Given the description of an element on the screen output the (x, y) to click on. 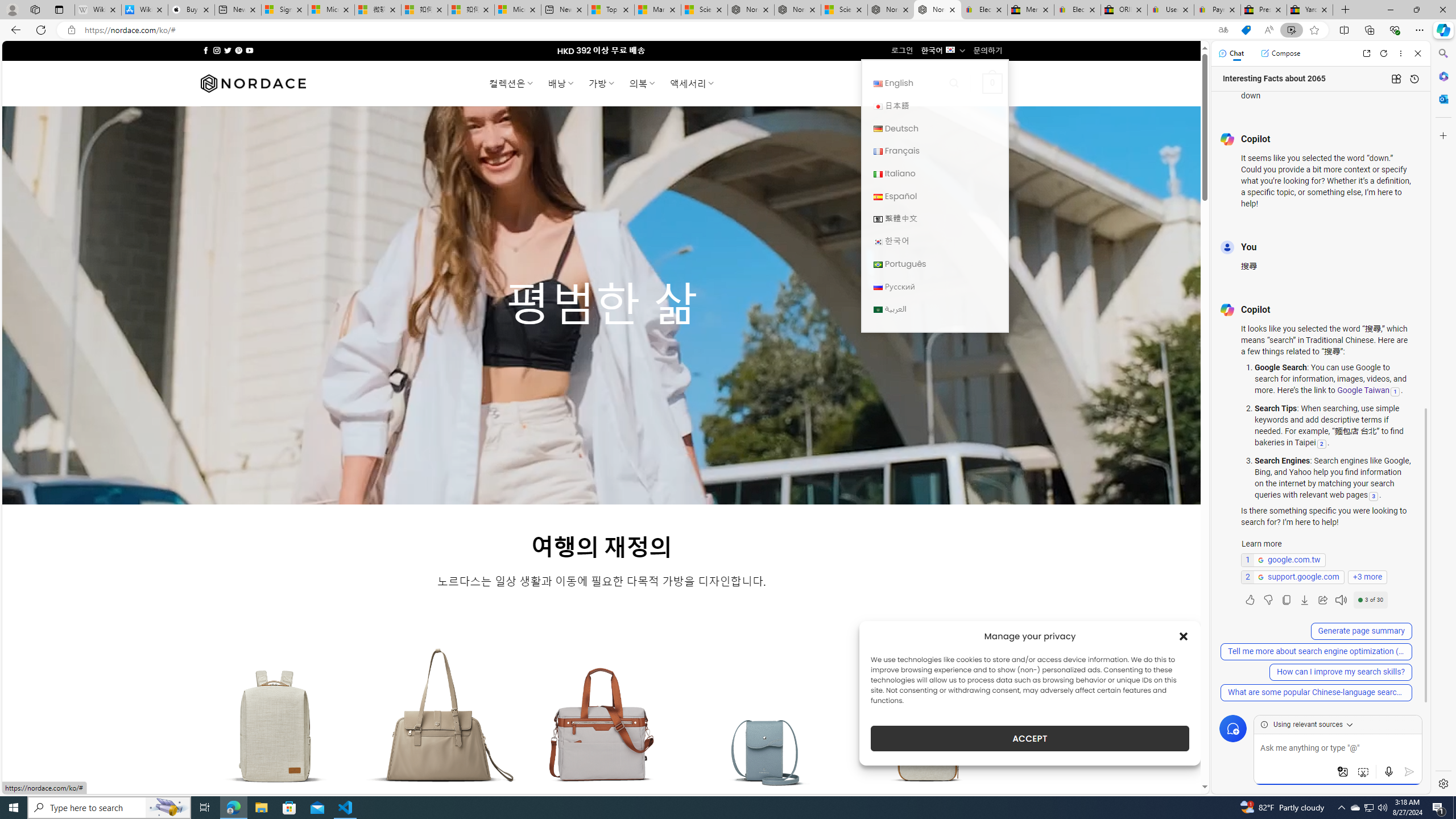
 English (934, 83)
Deutsch (877, 128)
English English (934, 83)
Deutsch Deutsch (934, 128)
